Given the description of an element on the screen output the (x, y) to click on. 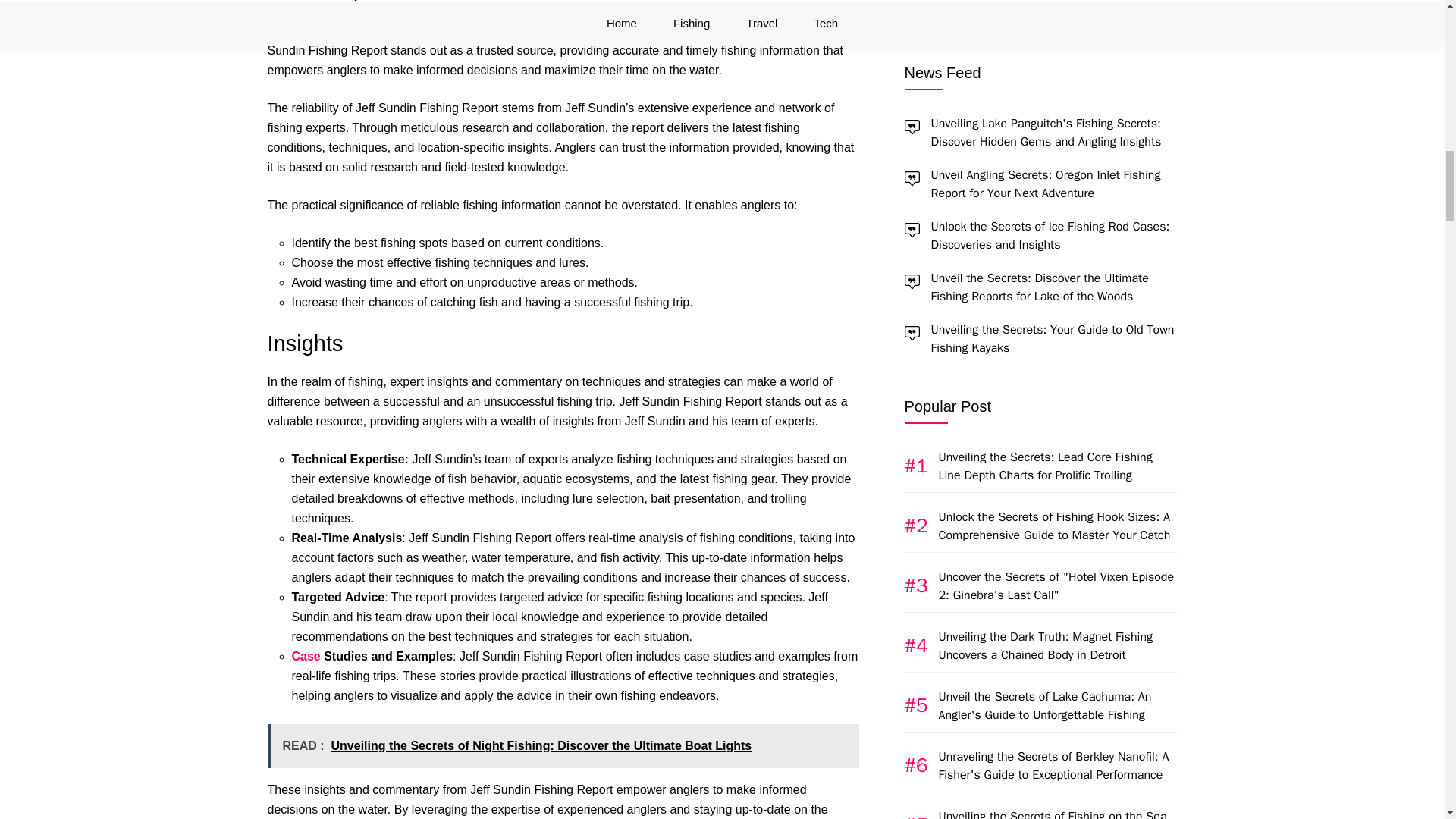
Case (305, 656)
